Given the description of an element on the screen output the (x, y) to click on. 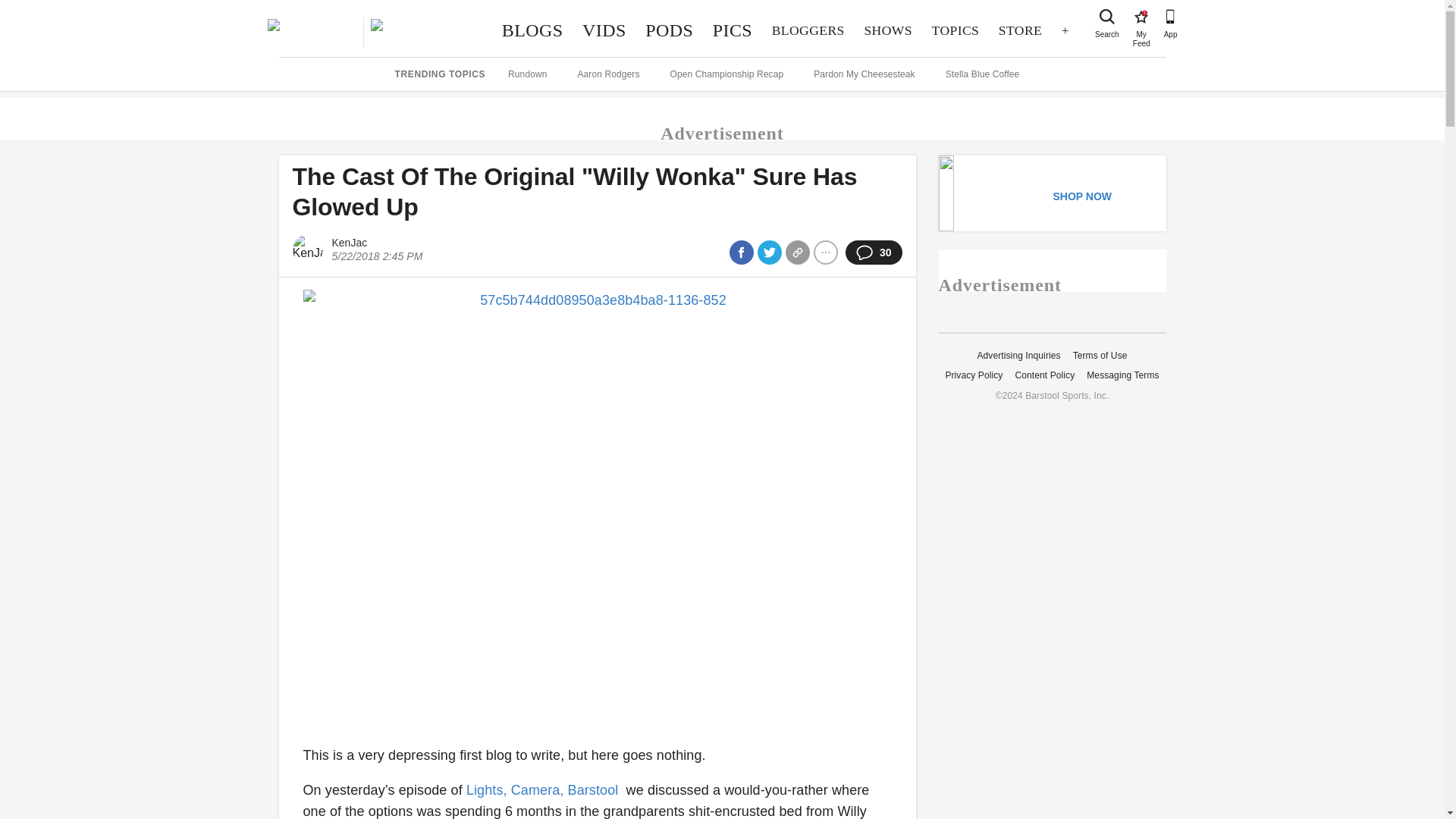
BLOGS (532, 30)
PICS (732, 30)
SHOWS (887, 30)
Search (1141, 16)
TOPICS (1107, 16)
PODS (954, 30)
STORE (668, 30)
BLOGGERS (1019, 30)
VIDS (807, 30)
